Given the description of an element on the screen output the (x, y) to click on. 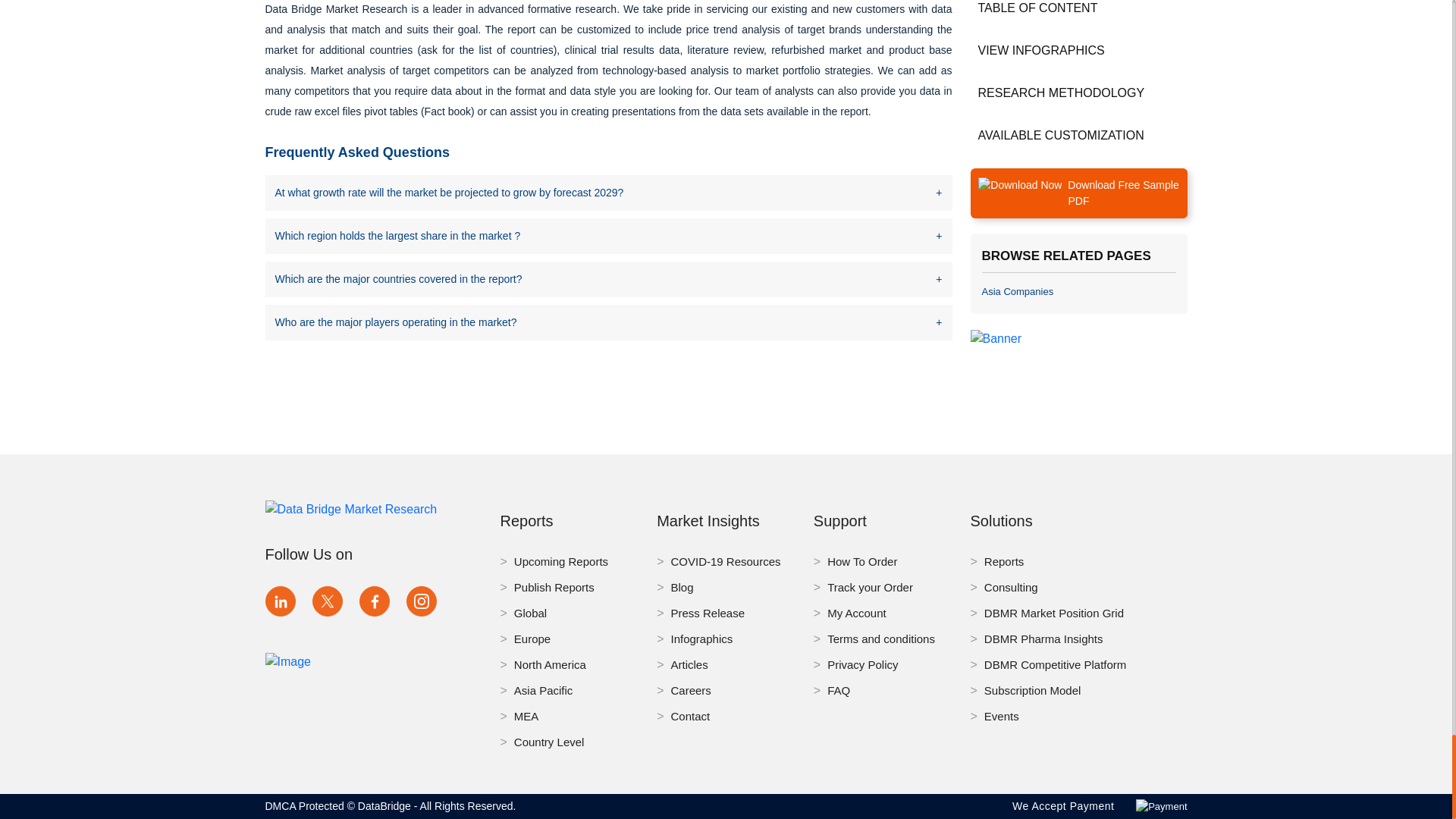
Facebook (374, 601)
Twitter (327, 601)
Instagram (421, 601)
LinkedIn (279, 601)
